Given the description of an element on the screen output the (x, y) to click on. 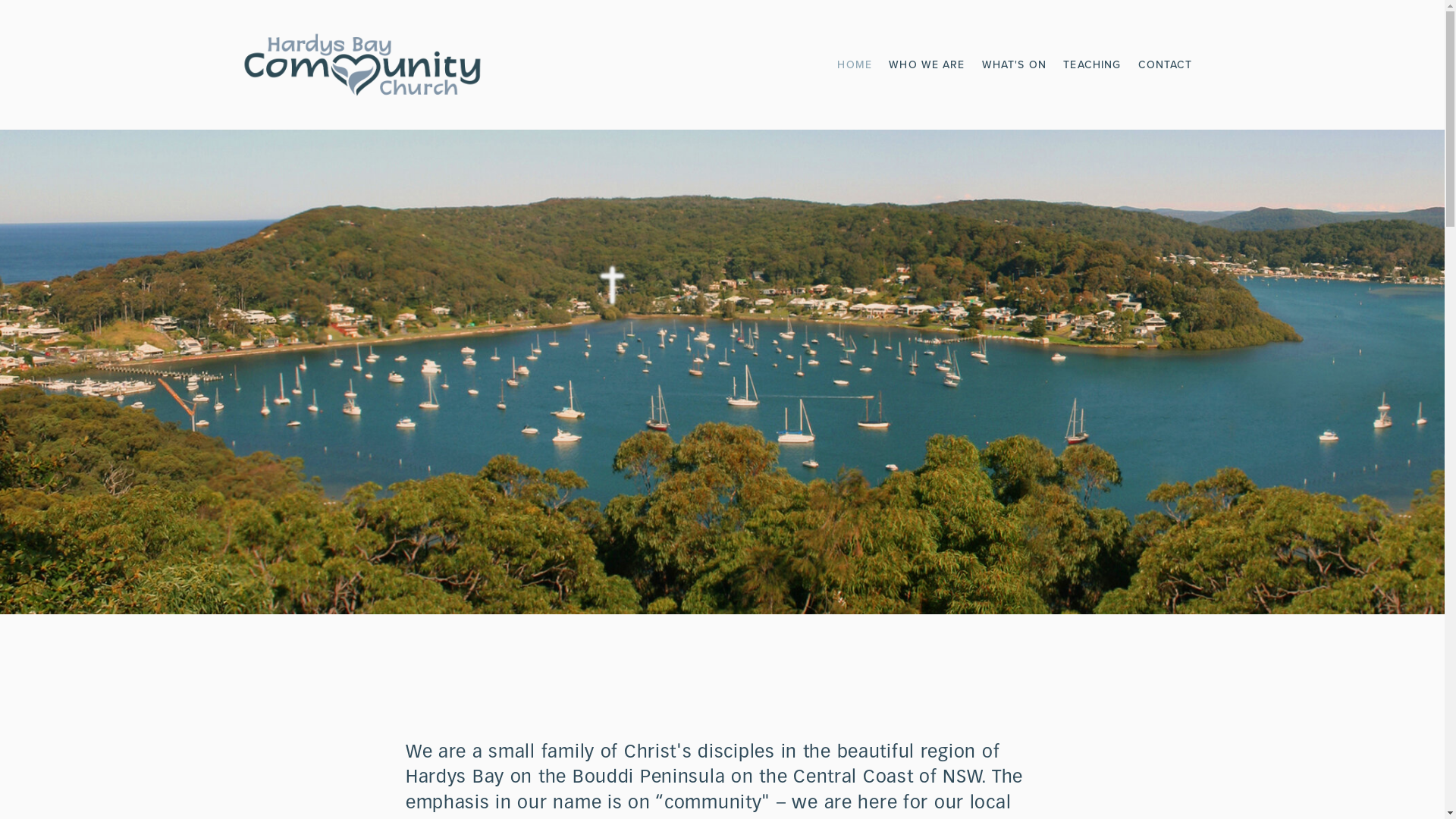
WHO WE ARE Element type: text (926, 64)
TEACHING Element type: text (1091, 64)
HOME Element type: text (854, 64)
WHAT'S ON Element type: text (1014, 64)
CONTACT Element type: text (1165, 64)
